Given the description of an element on the screen output the (x, y) to click on. 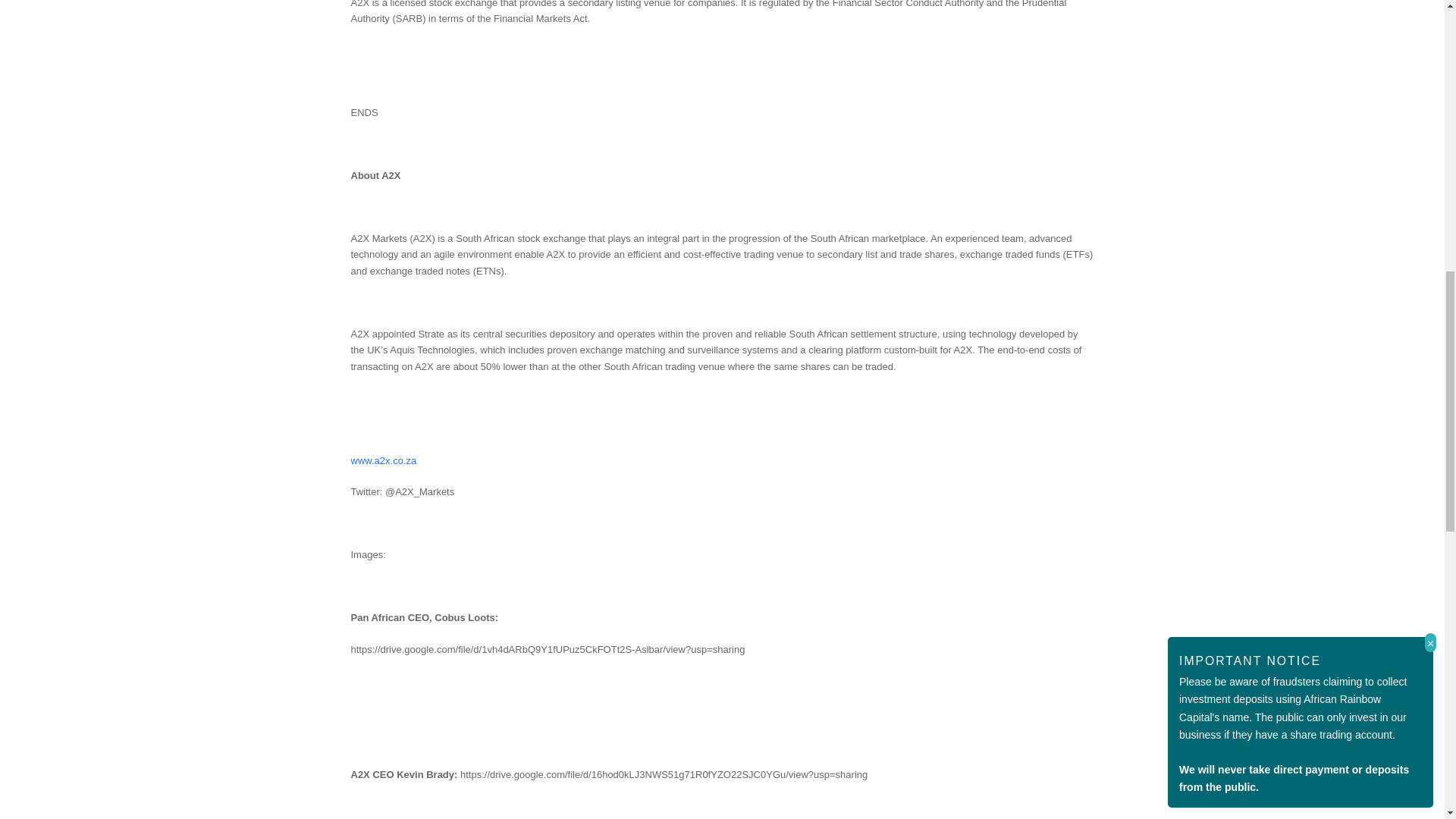
www.a2x.co.za (383, 460)
